Given the description of an element on the screen output the (x, y) to click on. 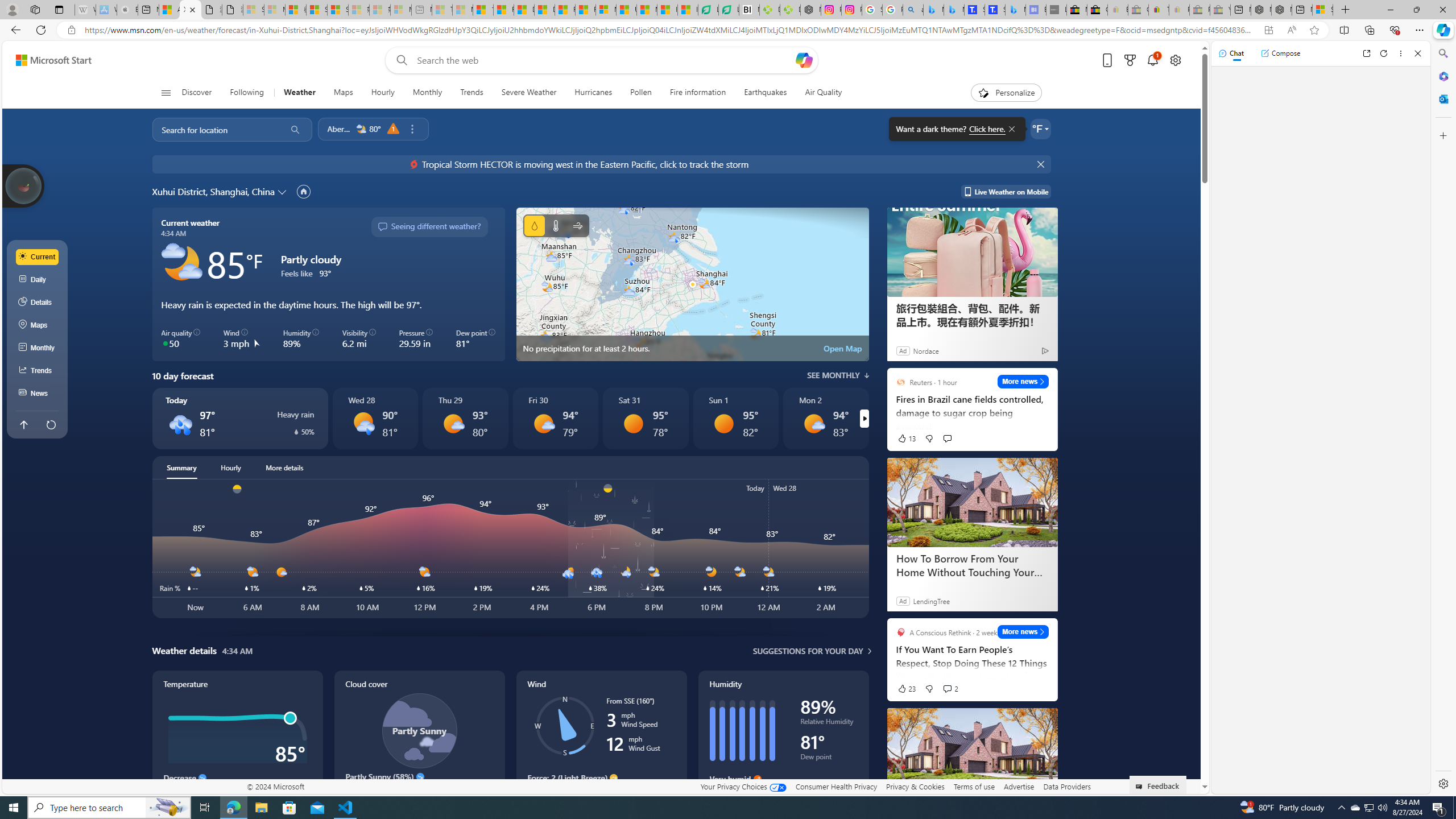
Buy iPad - Apple - Sleeping (127, 9)
Set as primary location (303, 191)
Wikipedia - Sleeping (84, 9)
Search for location (215, 128)
Earthquakes (765, 92)
Payments Terms of Use | eBay.com - Sleeping (1178, 9)
Relative Humidity (828, 723)
Advertise (1019, 785)
Aberdeen (338, 129)
